Given the description of an element on the screen output the (x, y) to click on. 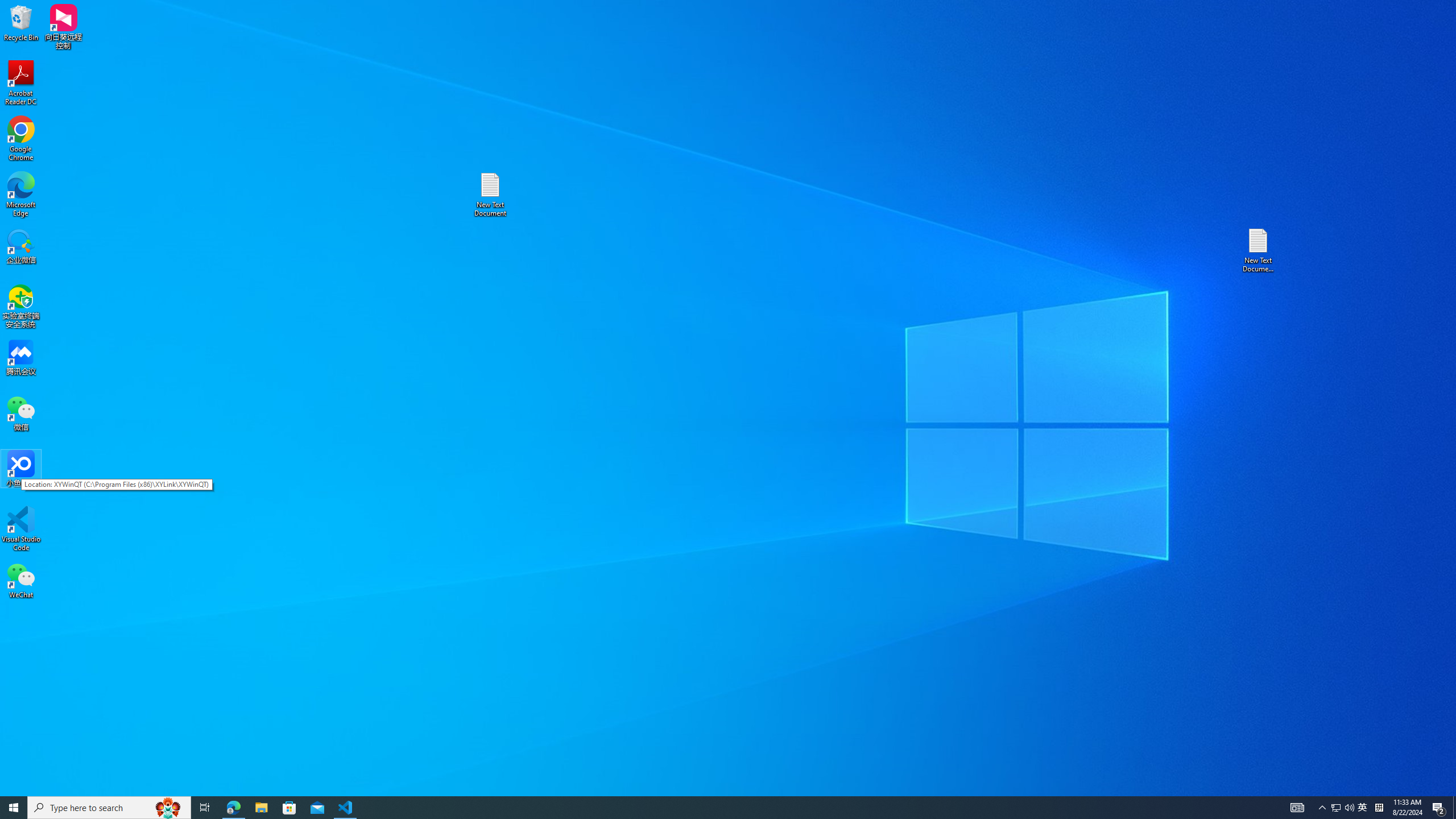
Recycle Bin (21, 22)
New Text Document (2) (1258, 250)
